Given the description of an element on the screen output the (x, y) to click on. 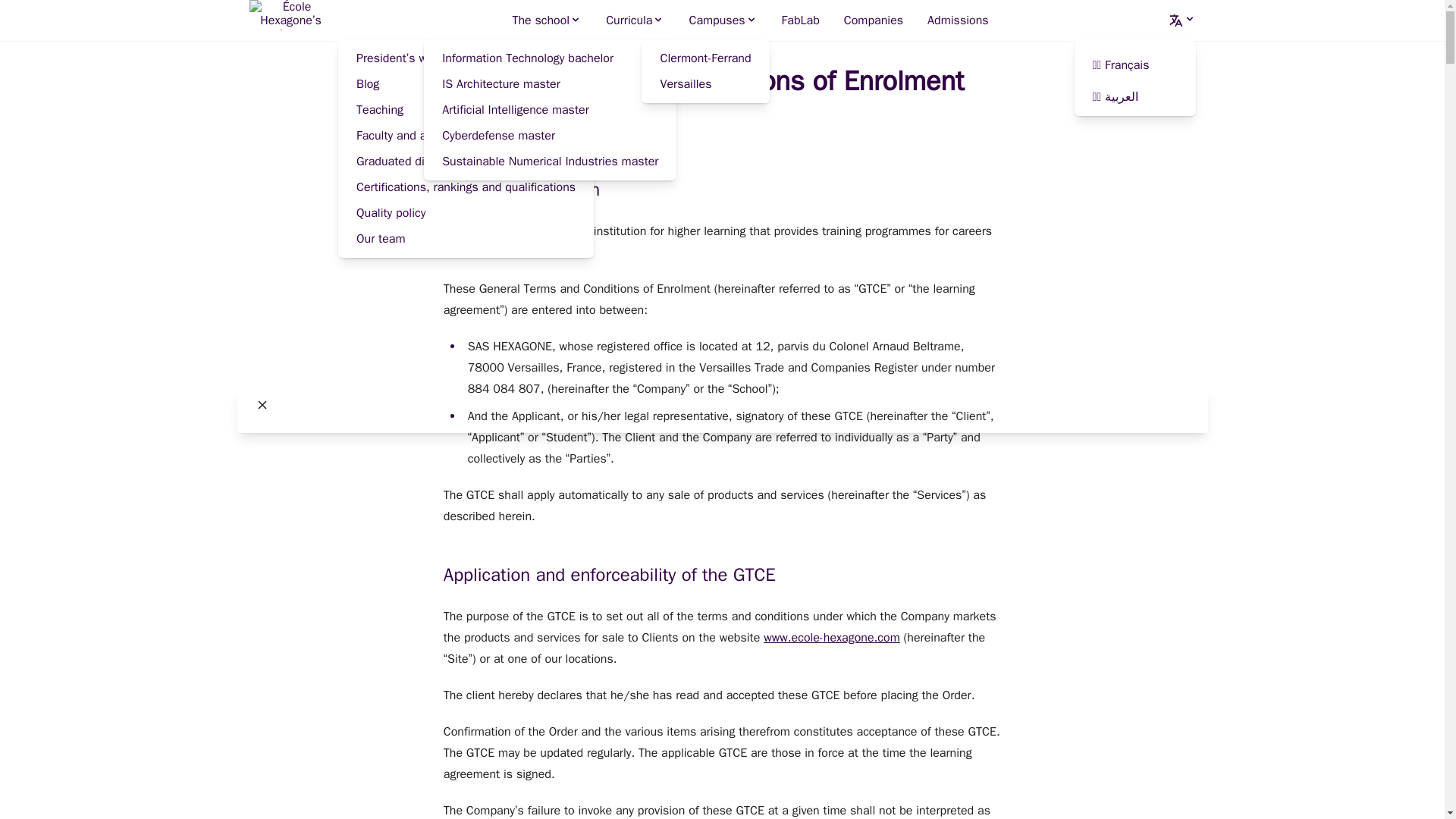
Campuses (722, 20)
Faculty and academic staff (465, 135)
Cyberdefense master (549, 135)
Information Technology bachelor (549, 58)
Sustainable Numerical Industries master (549, 161)
Certifications, rankings and qualifications (465, 186)
Curricula (635, 20)
Artificial Intelligence master (549, 109)
Teaching (465, 109)
The school (546, 20)
